Given the description of an element on the screen output the (x, y) to click on. 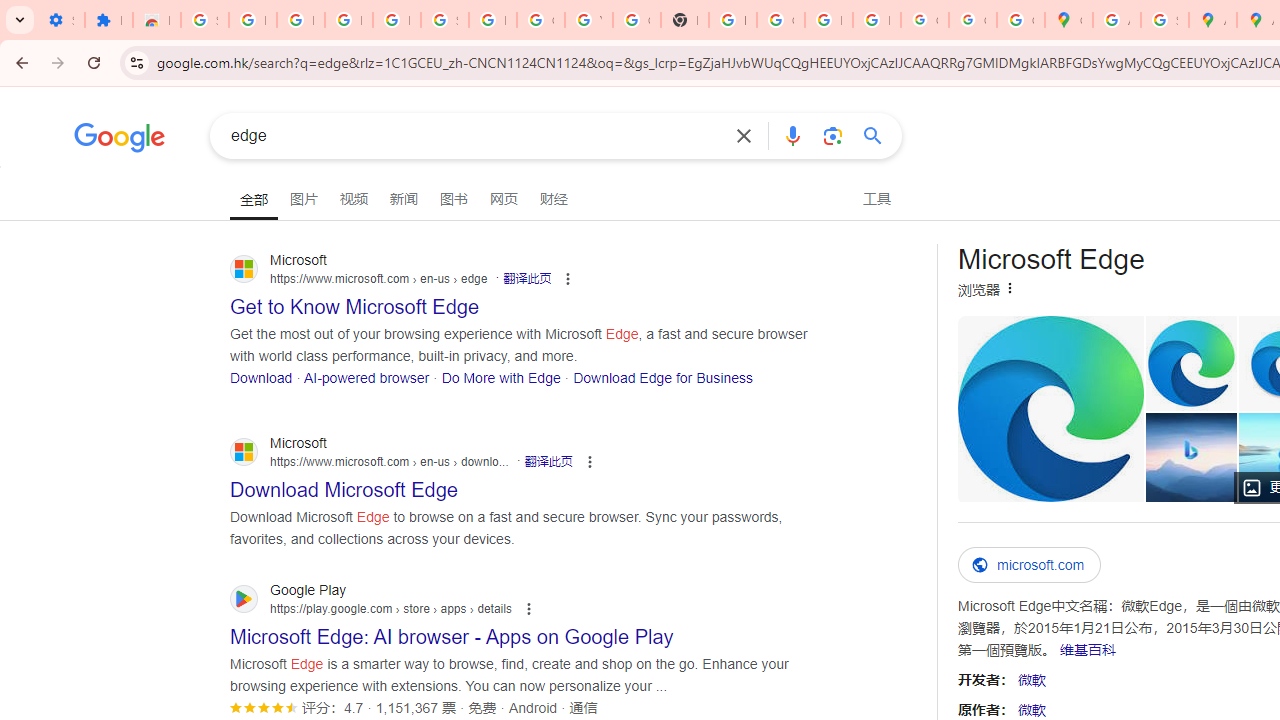
Google Account (540, 20)
Sign in - Google Accounts (204, 20)
New Tab (684, 20)
AI-powered browser (366, 376)
